Given the description of an element on the screen output the (x, y) to click on. 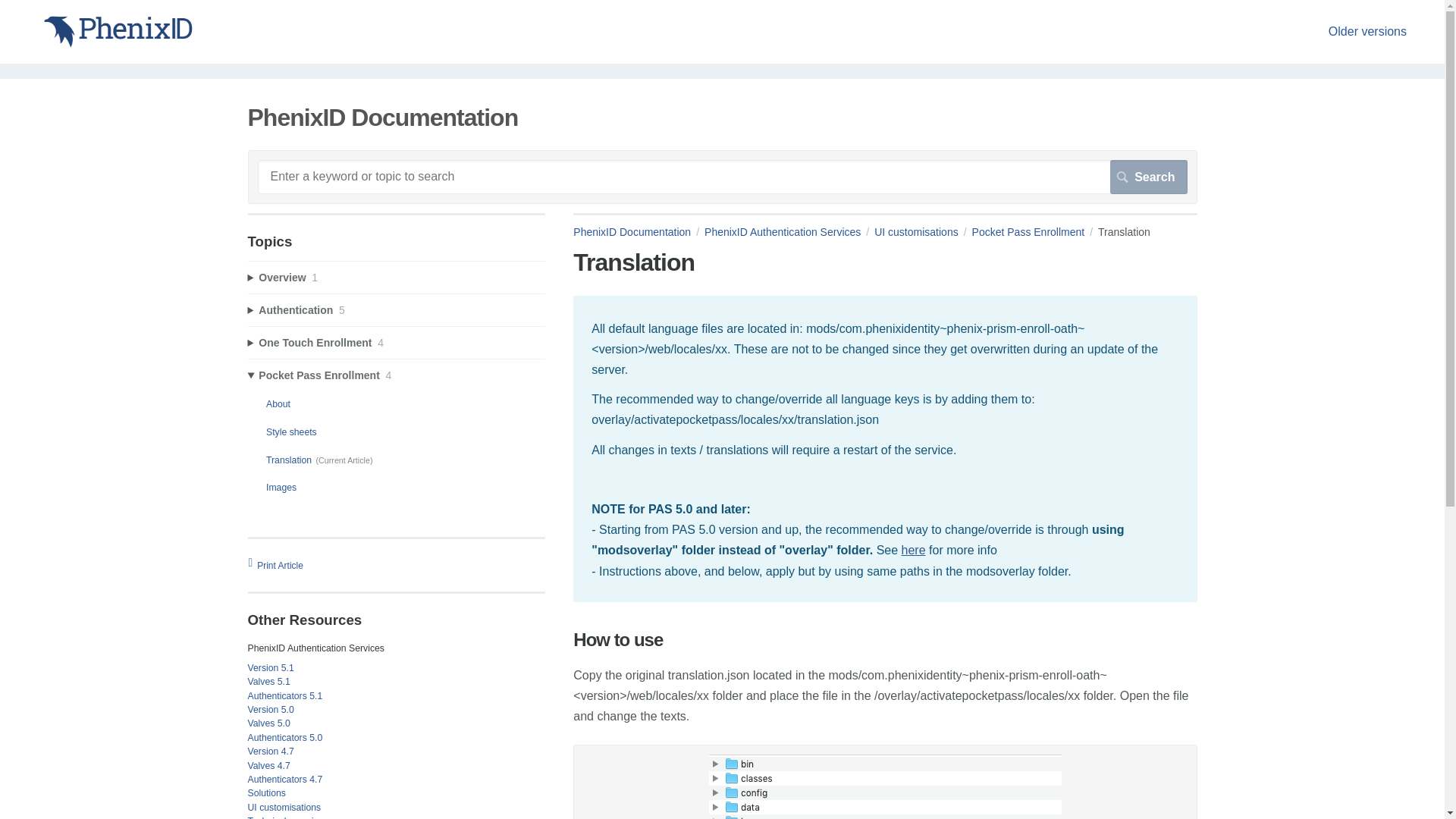
Pocket Pass Enrollment (1035, 232)
Valves 4.7 (268, 765)
Images (281, 487)
UI customisations (923, 232)
UI customisations (283, 807)
Valves 5.0 (268, 723)
About (277, 403)
PhenixID Documentation (638, 232)
Search (1147, 176)
PhenixID Authentication Services (789, 232)
